Given the description of an element on the screen output the (x, y) to click on. 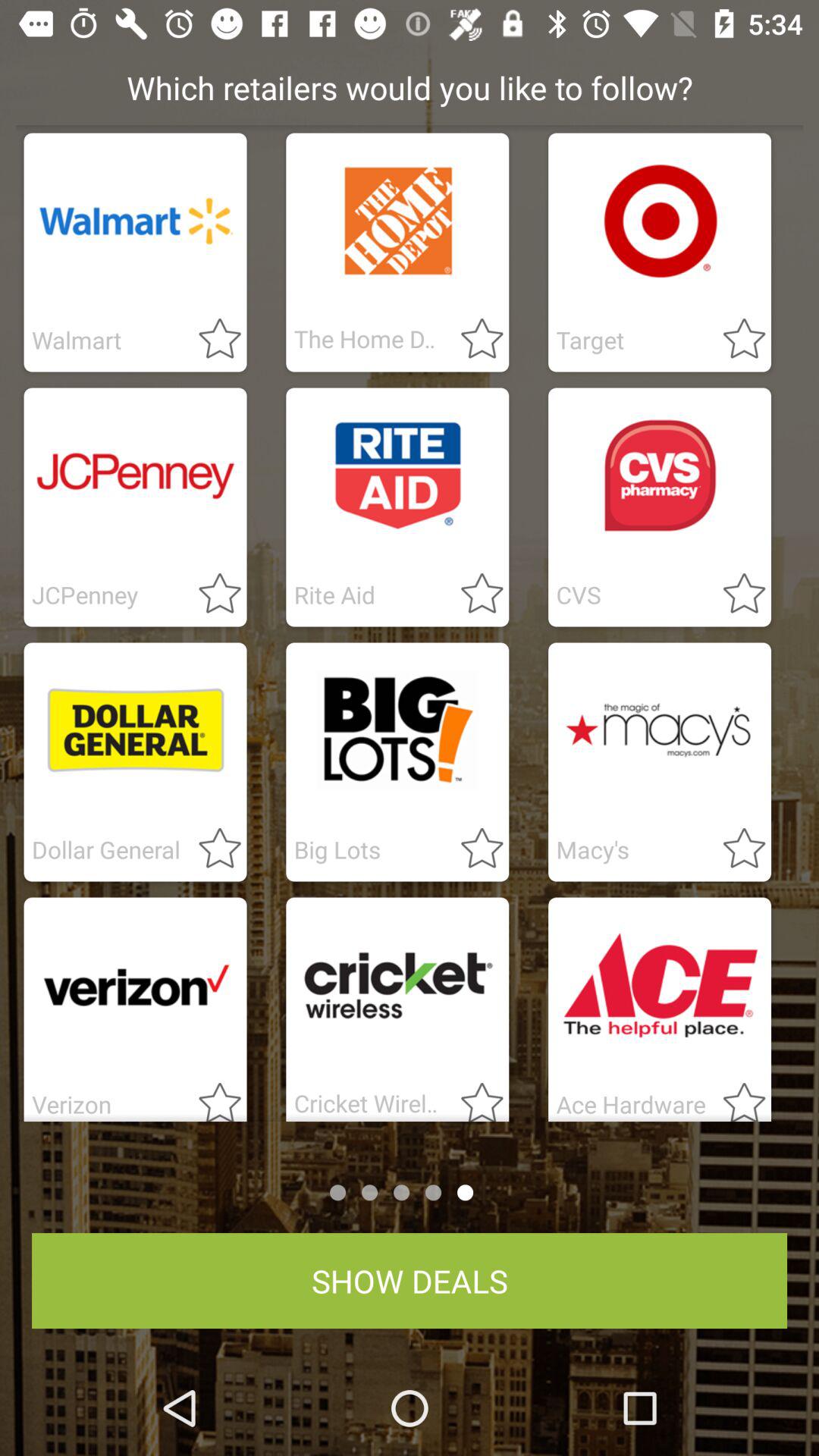
to favorite (735, 849)
